Given the description of an element on the screen output the (x, y) to click on. 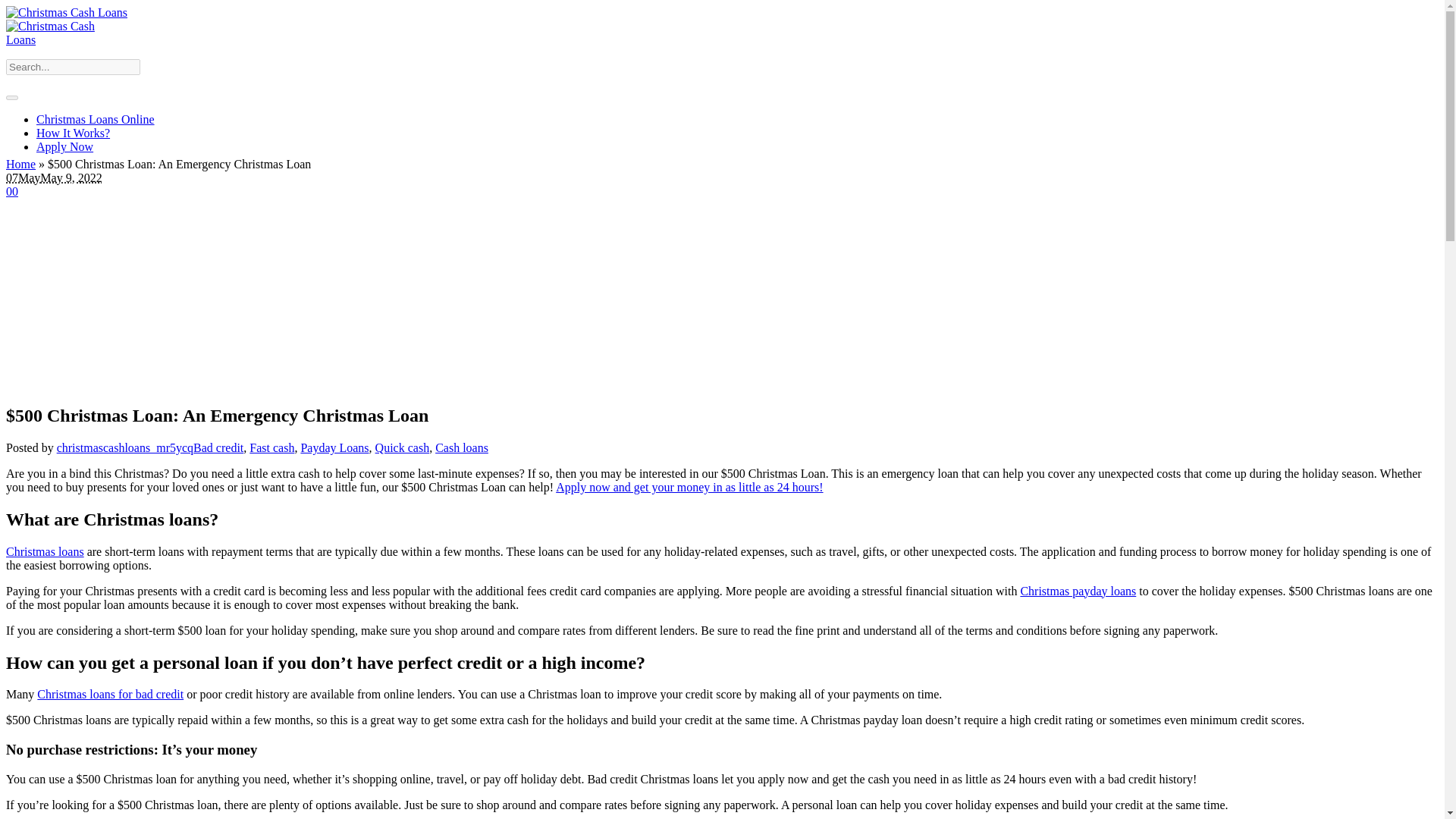
Christmas loans (44, 551)
Christmas Loans Online (95, 119)
May 7, 2022 (22, 177)
Bad credit (218, 447)
Quick cash (402, 447)
Apply Now (64, 146)
Home (19, 164)
Christmas payday loans (1077, 590)
May 9, 2022 (70, 177)
Christmas Cash Loans (66, 25)
